Given the description of an element on the screen output the (x, y) to click on. 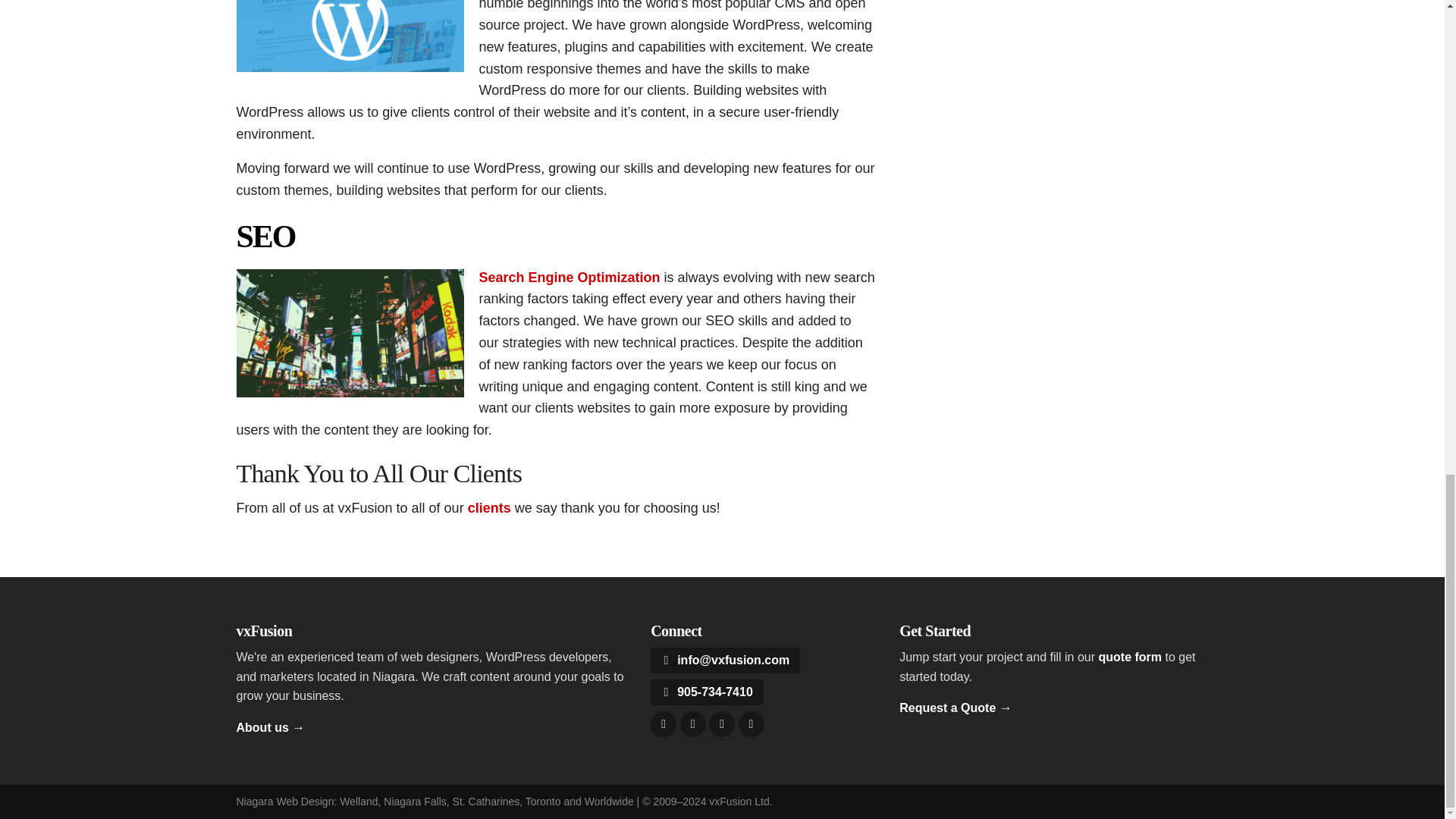
vxFusion on Facebook (692, 724)
vxFusion on LinkedIn (751, 724)
vxFusion on Twitter (663, 724)
